Given the description of an element on the screen output the (x, y) to click on. 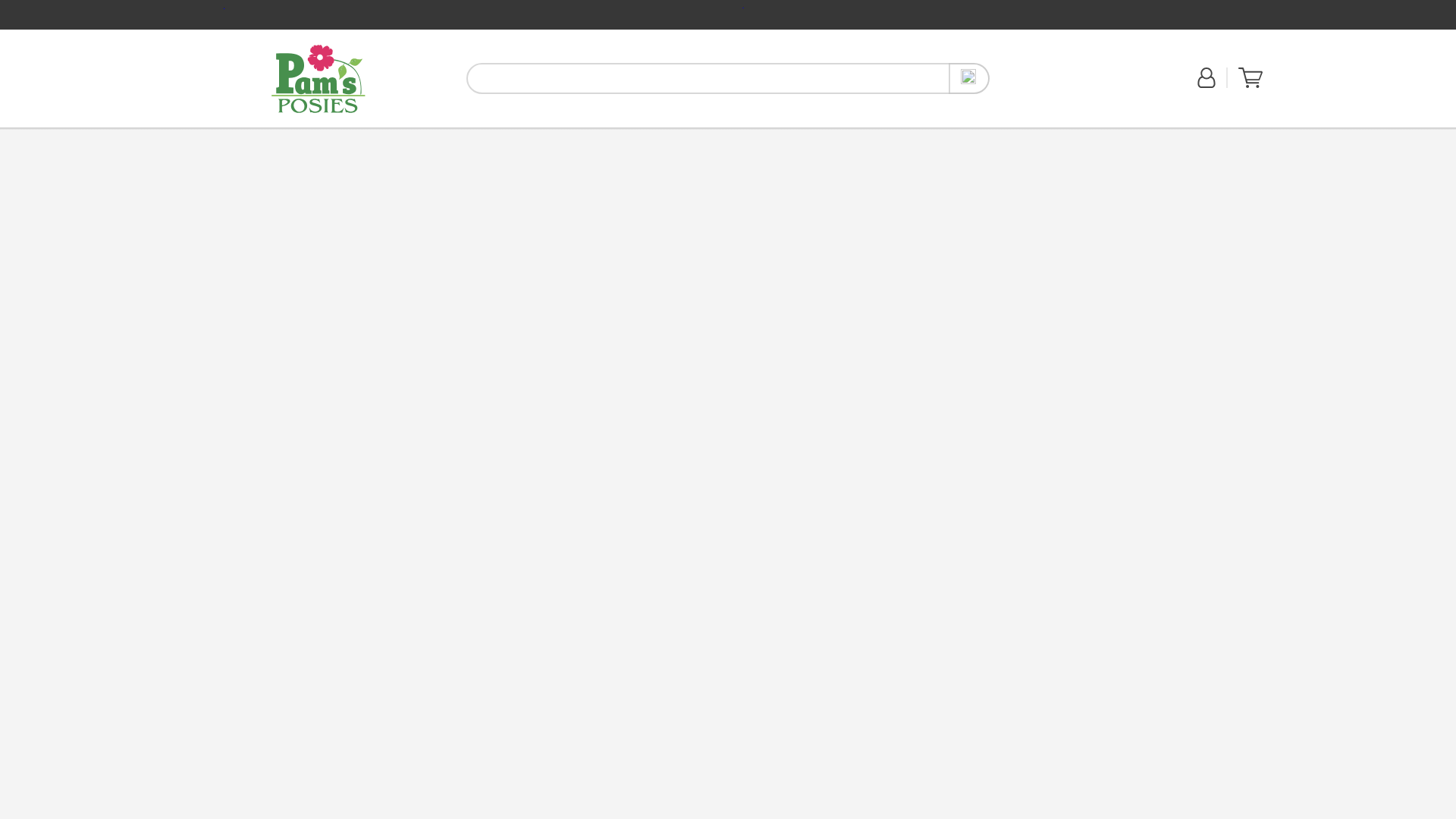
Back to the Home Page (318, 78)
View Your Shopping Cart (1250, 84)
Sympathy (432, 135)
Occasions (478, 136)
Birthday (295, 135)
Pam's Posies Logo (317, 79)
Search (969, 78)
Set ZIP Code (1044, 86)
Just Because (318, 78)
